Given the description of an element on the screen output the (x, y) to click on. 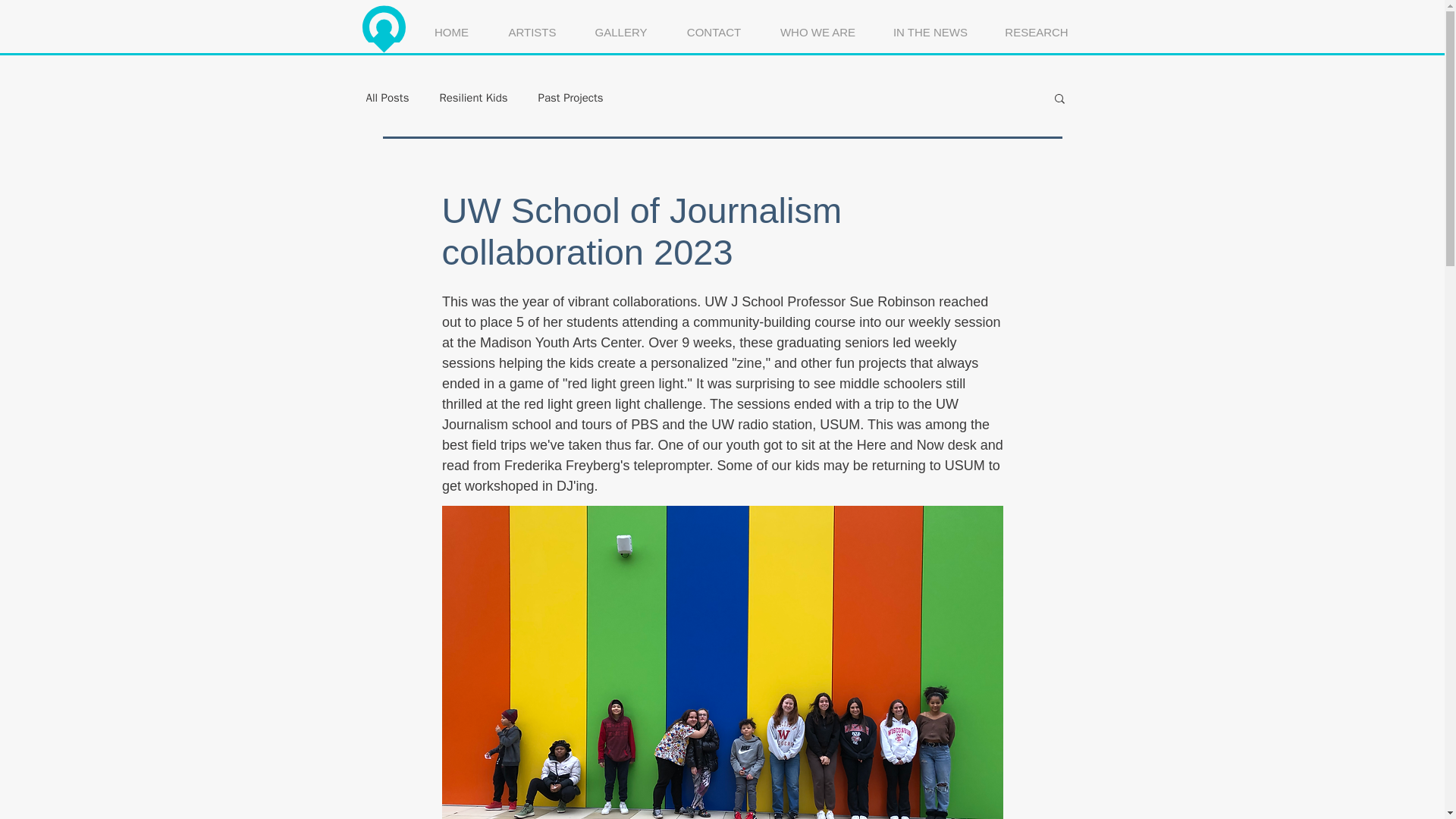
GALLERY (620, 25)
CONTACT (713, 25)
IN THE NEWS (931, 25)
HOME (451, 25)
WHO WE ARE (818, 25)
Past Projects (571, 97)
Resilient Kids (472, 97)
RESEARCH (1035, 25)
All Posts (387, 97)
ARTISTS (532, 25)
